Given the description of an element on the screen output the (x, y) to click on. 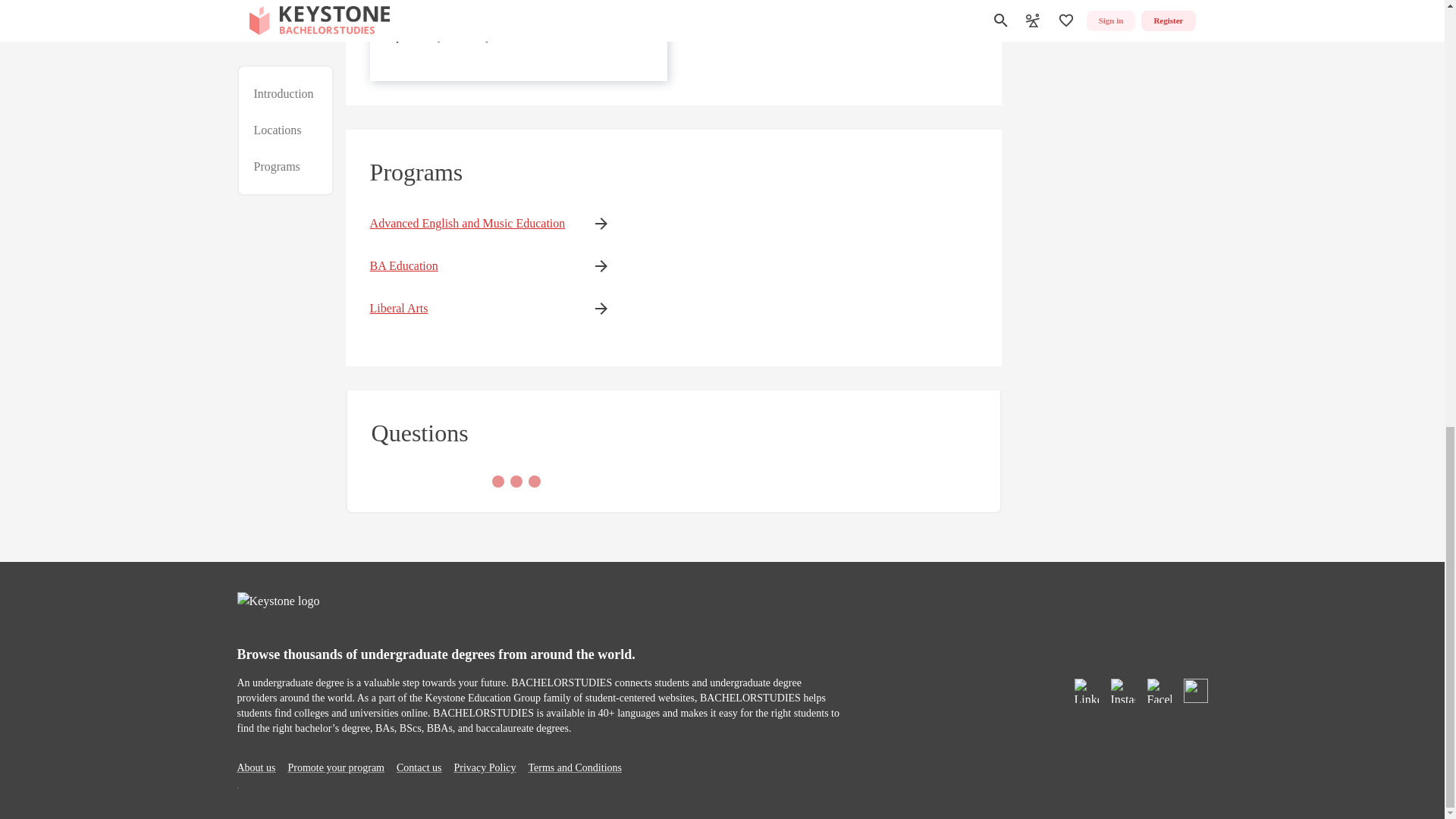
Privacy Policy (483, 767)
BA Education (467, 266)
About us (255, 767)
Contact us (419, 767)
Terms and Conditions (574, 767)
Liberal Arts (467, 308)
Promote your program (335, 767)
Advanced English and Music Education (467, 223)
